Given the description of an element on the screen output the (x, y) to click on. 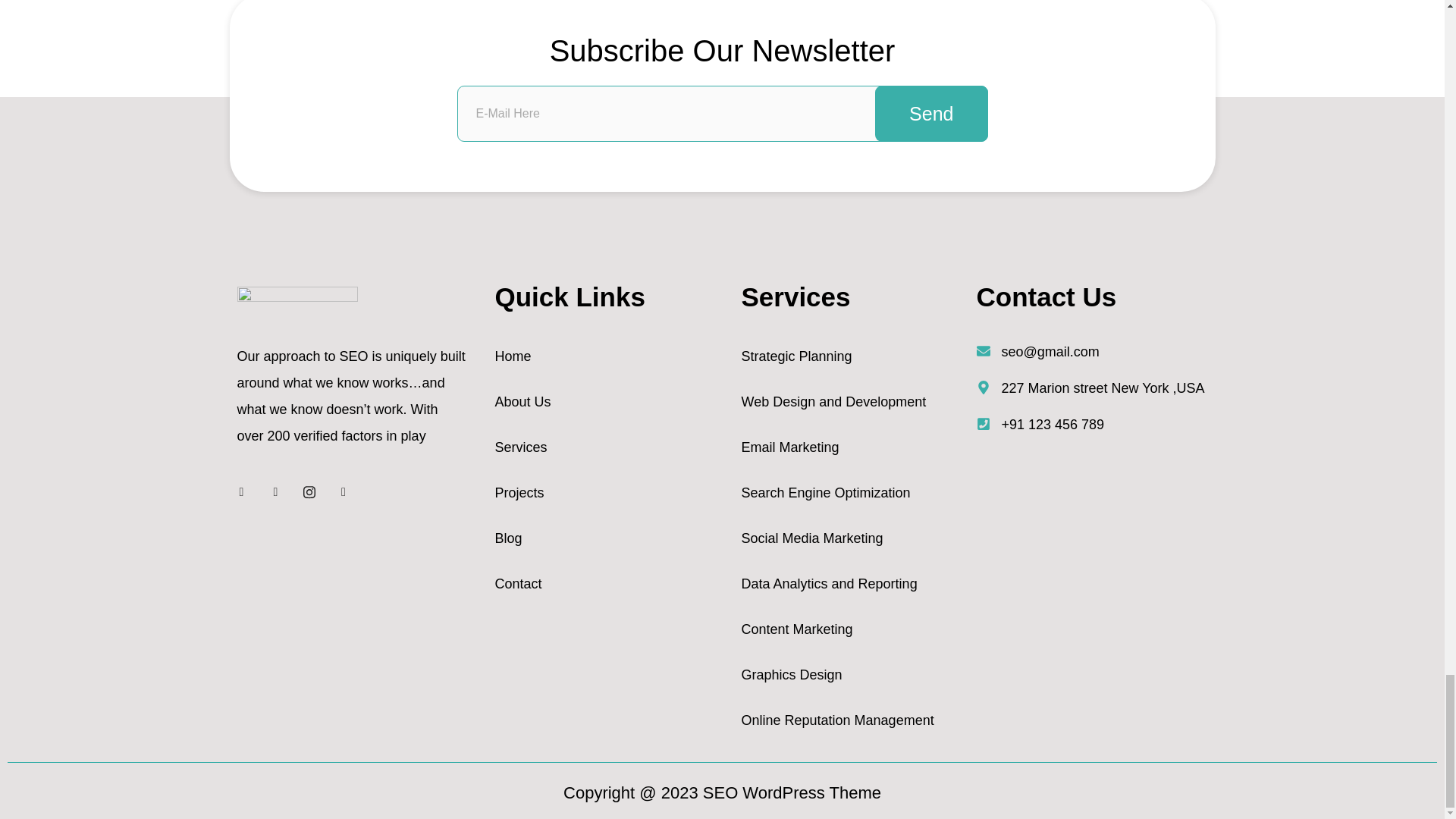
Send (931, 113)
